Given the description of an element on the screen output the (x, y) to click on. 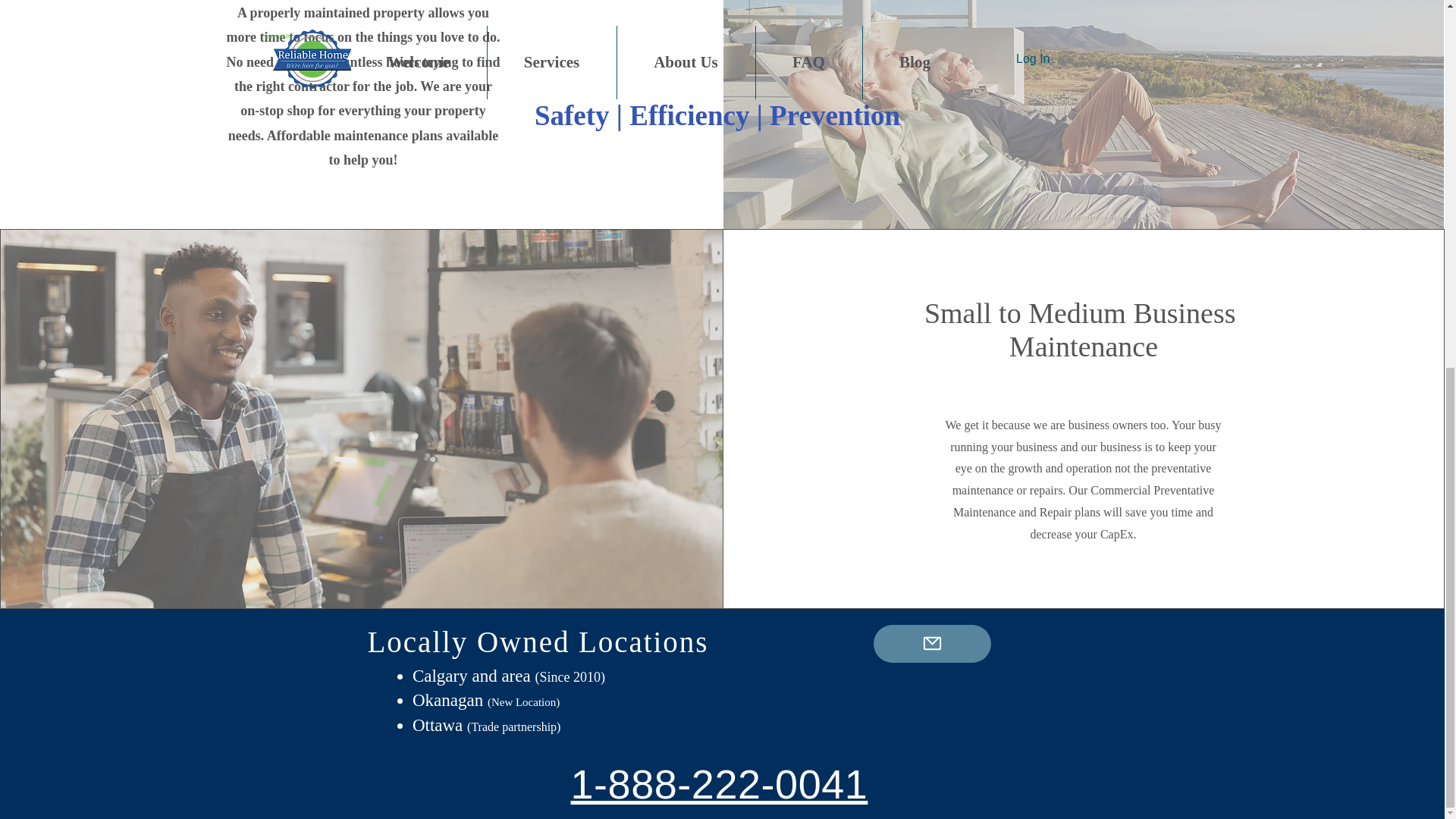
1-888-222-0041 (718, 783)
